Given the description of an element on the screen output the (x, y) to click on. 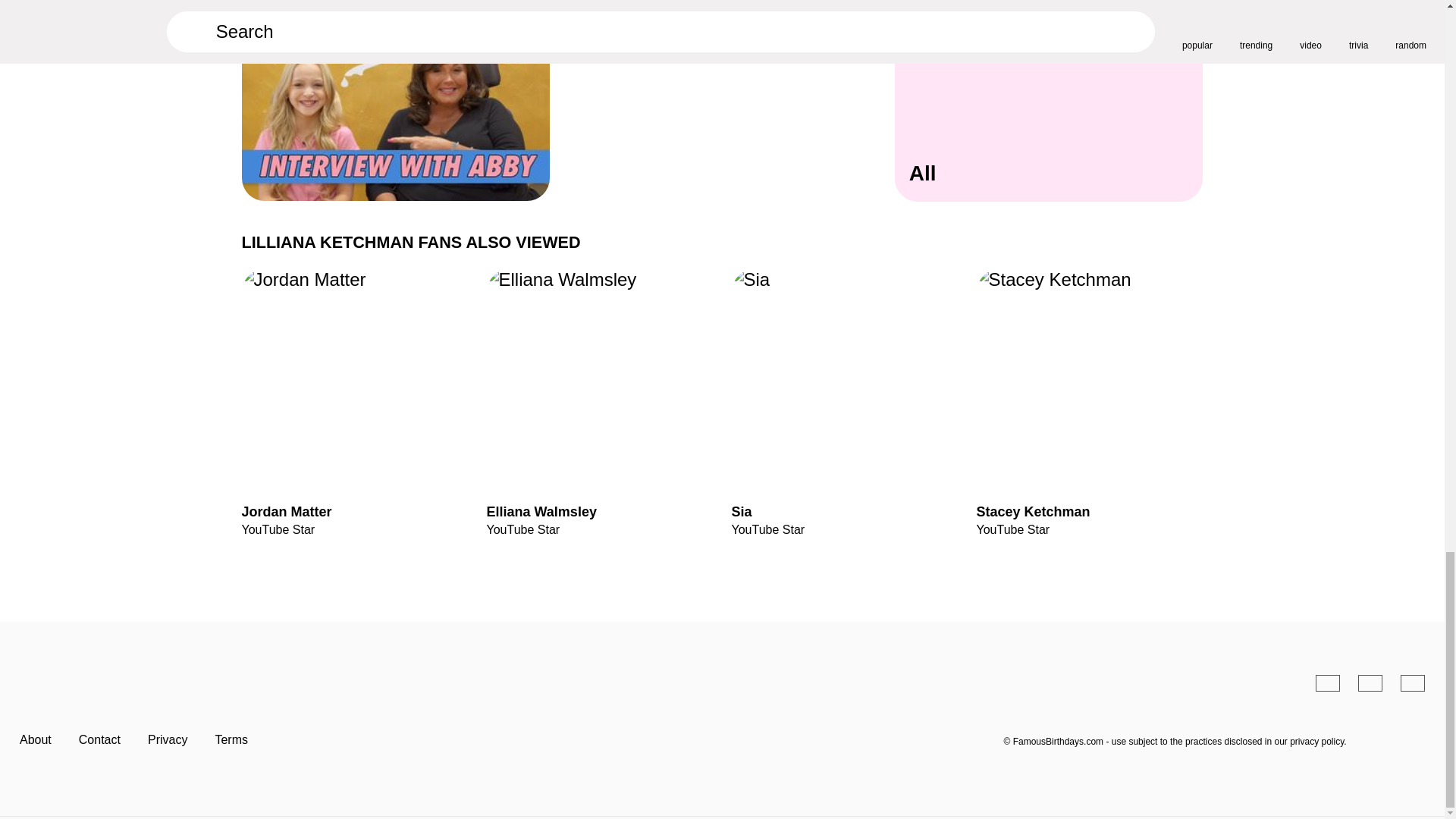
All (1049, 114)
Spanish (1327, 682)
Portuguese (1369, 682)
French (1412, 682)
